Given the description of an element on the screen output the (x, y) to click on. 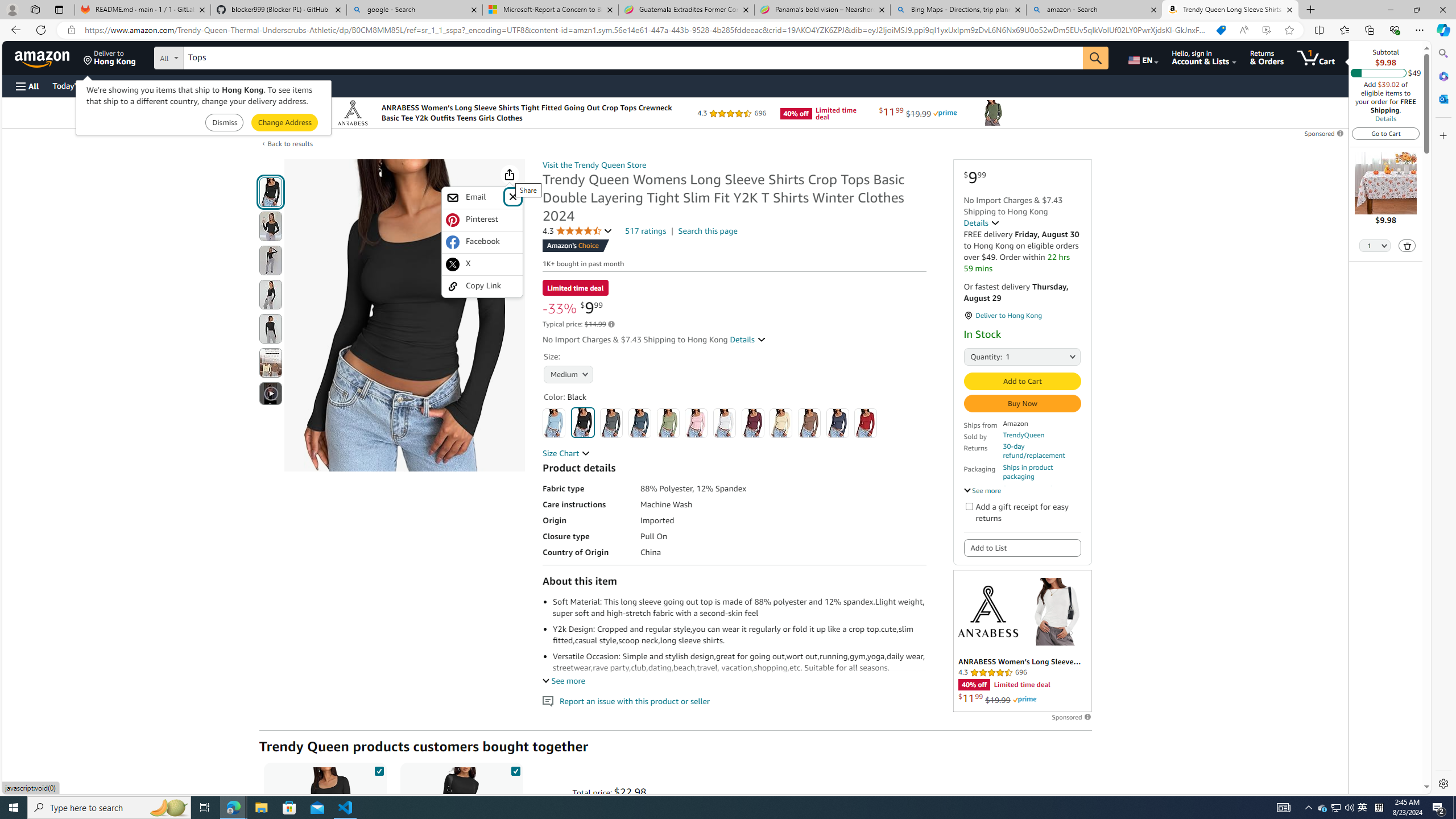
Coffee Grey (809, 422)
Pink (696, 422)
Quantity Selector (1374, 246)
Visit the Trendy Queen Store (594, 164)
Delete (1407, 245)
Sponsored ad (1022, 640)
Today's Deals (76, 85)
Pinterest (482, 219)
Navy (837, 422)
